Given the description of an element on the screen output the (x, y) to click on. 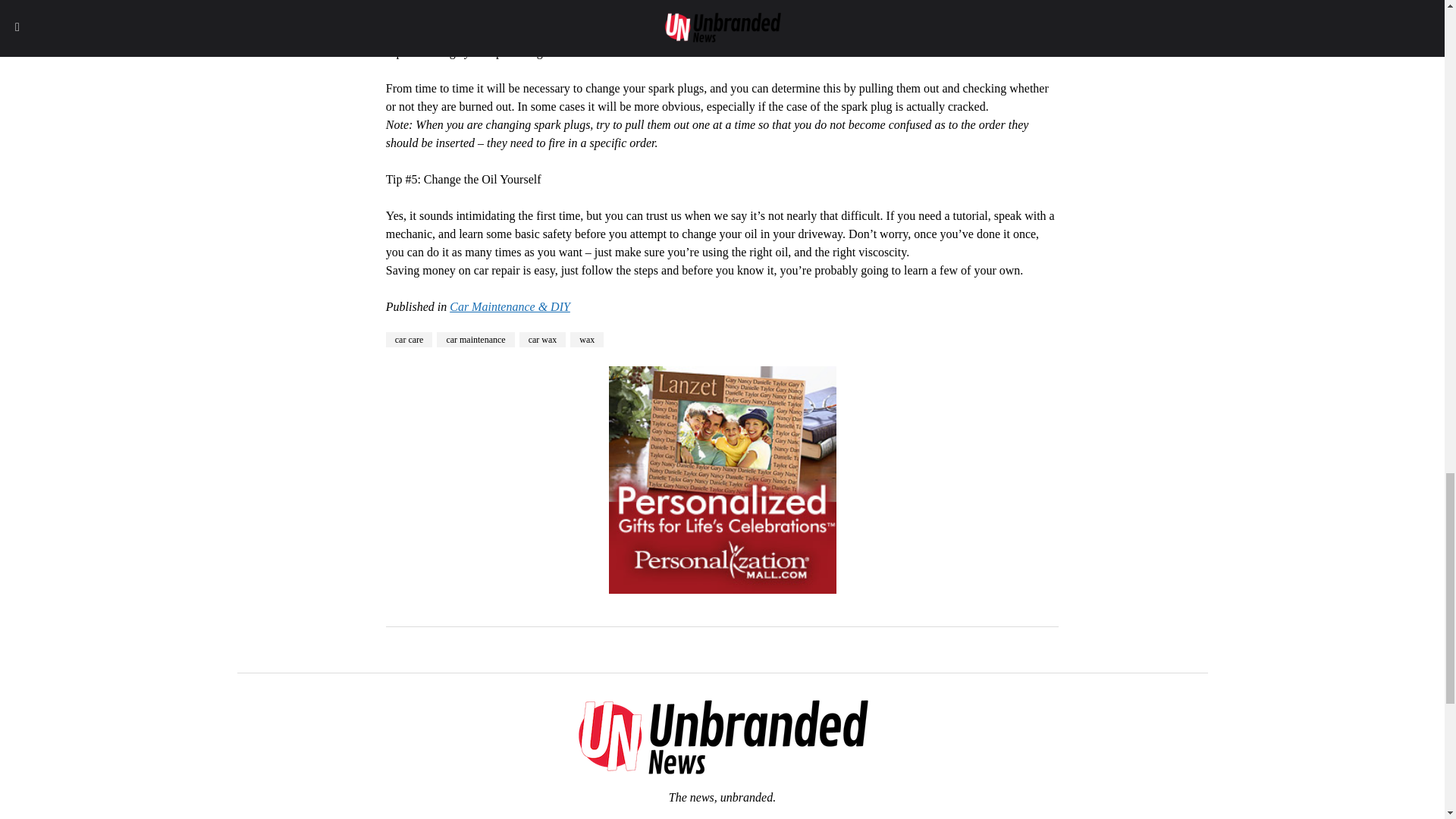
car wax (542, 339)
car maintenance (474, 339)
View all posts tagged car maintenance (474, 339)
View all posts tagged wax (587, 339)
car care (408, 339)
wax (587, 339)
View all posts tagged car care (408, 339)
View all posts tagged car wax (542, 339)
